Given the description of an element on the screen output the (x, y) to click on. 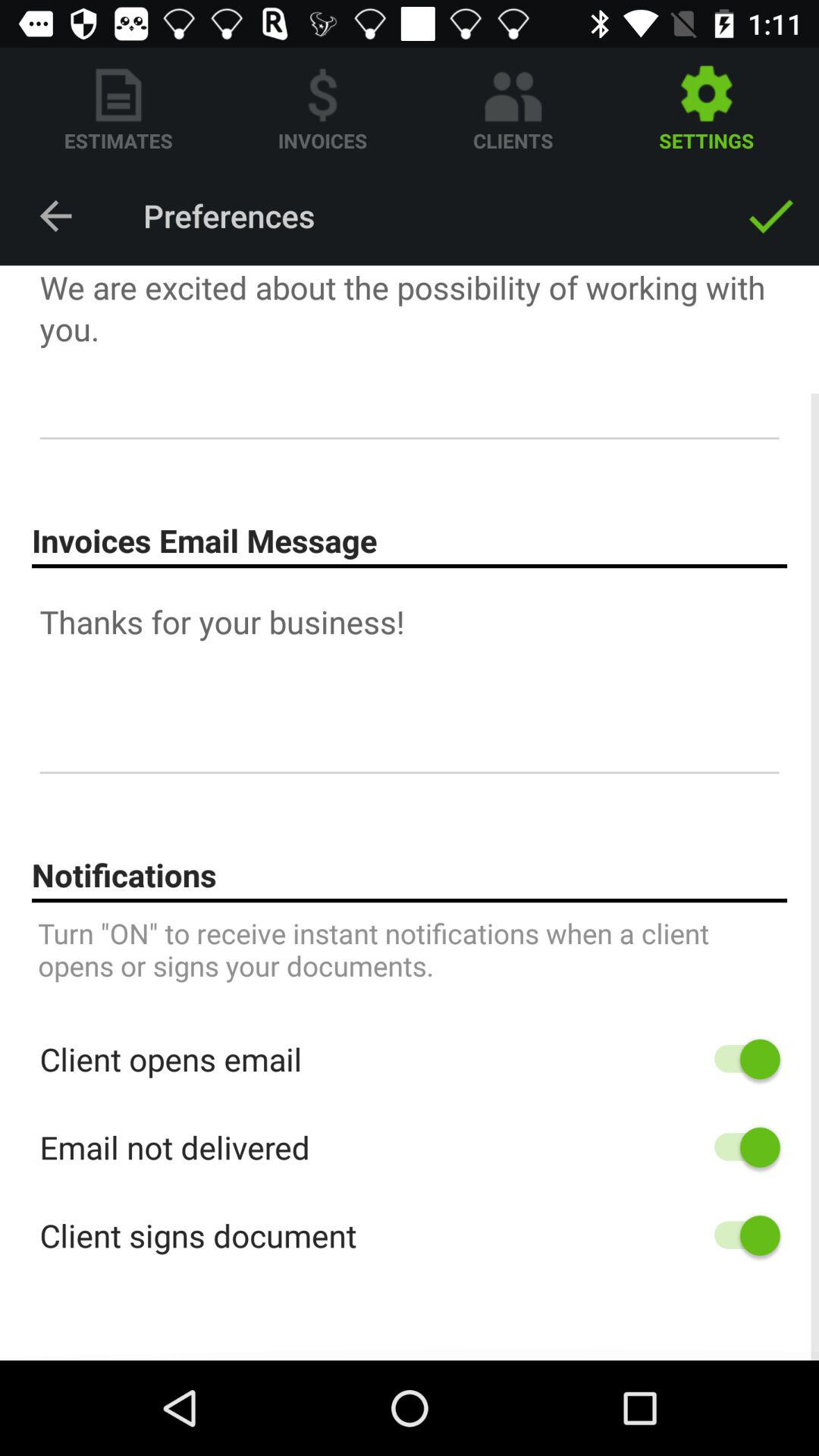
turn function off (739, 1147)
